Given the description of an element on the screen output the (x, y) to click on. 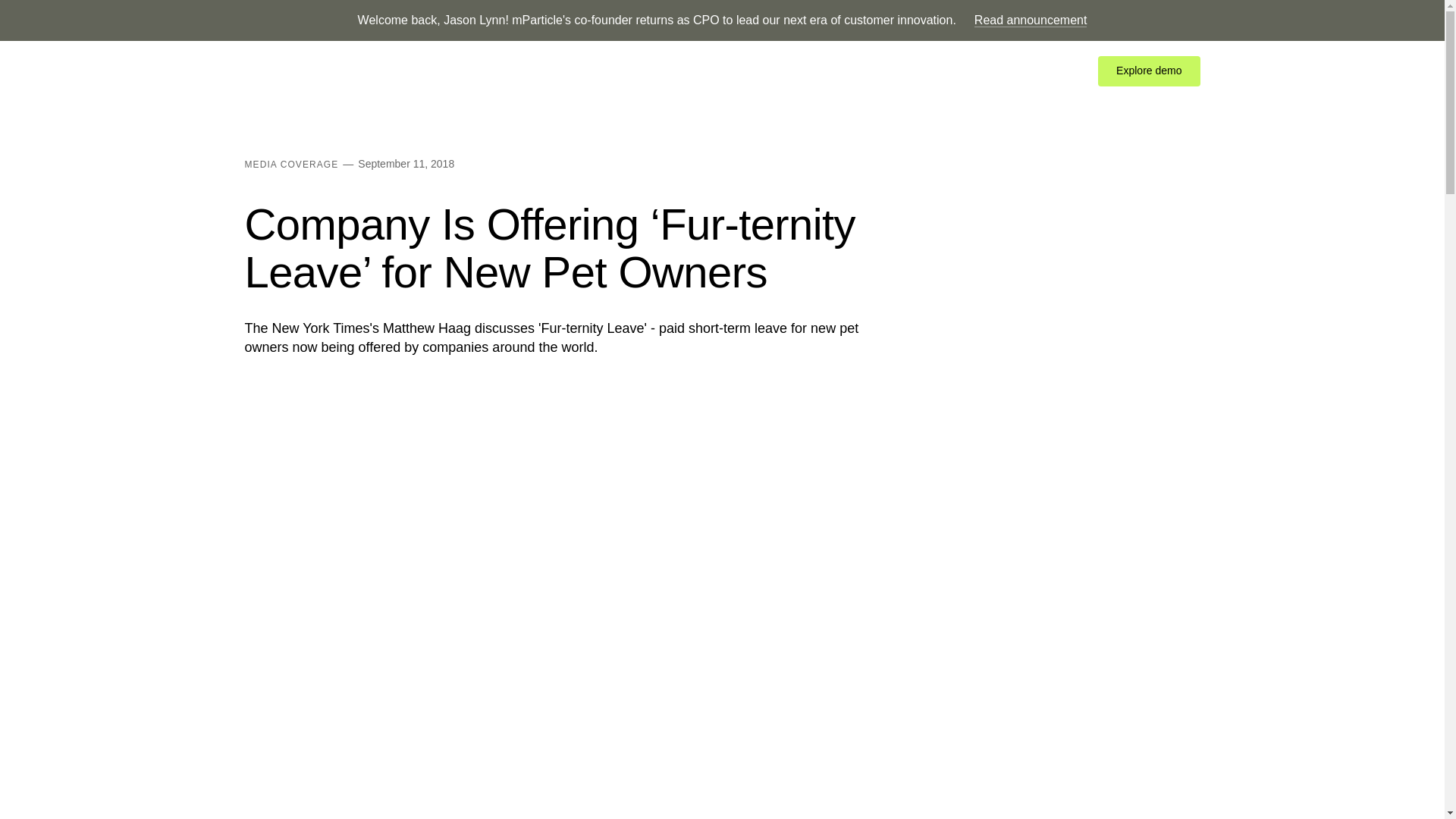
Resources (557, 70)
Login (985, 70)
MEDIA COVERAGE (290, 163)
Contact us (1048, 70)
Read announcement (1030, 20)
Explore demo (1148, 71)
